Given the description of an element on the screen output the (x, y) to click on. 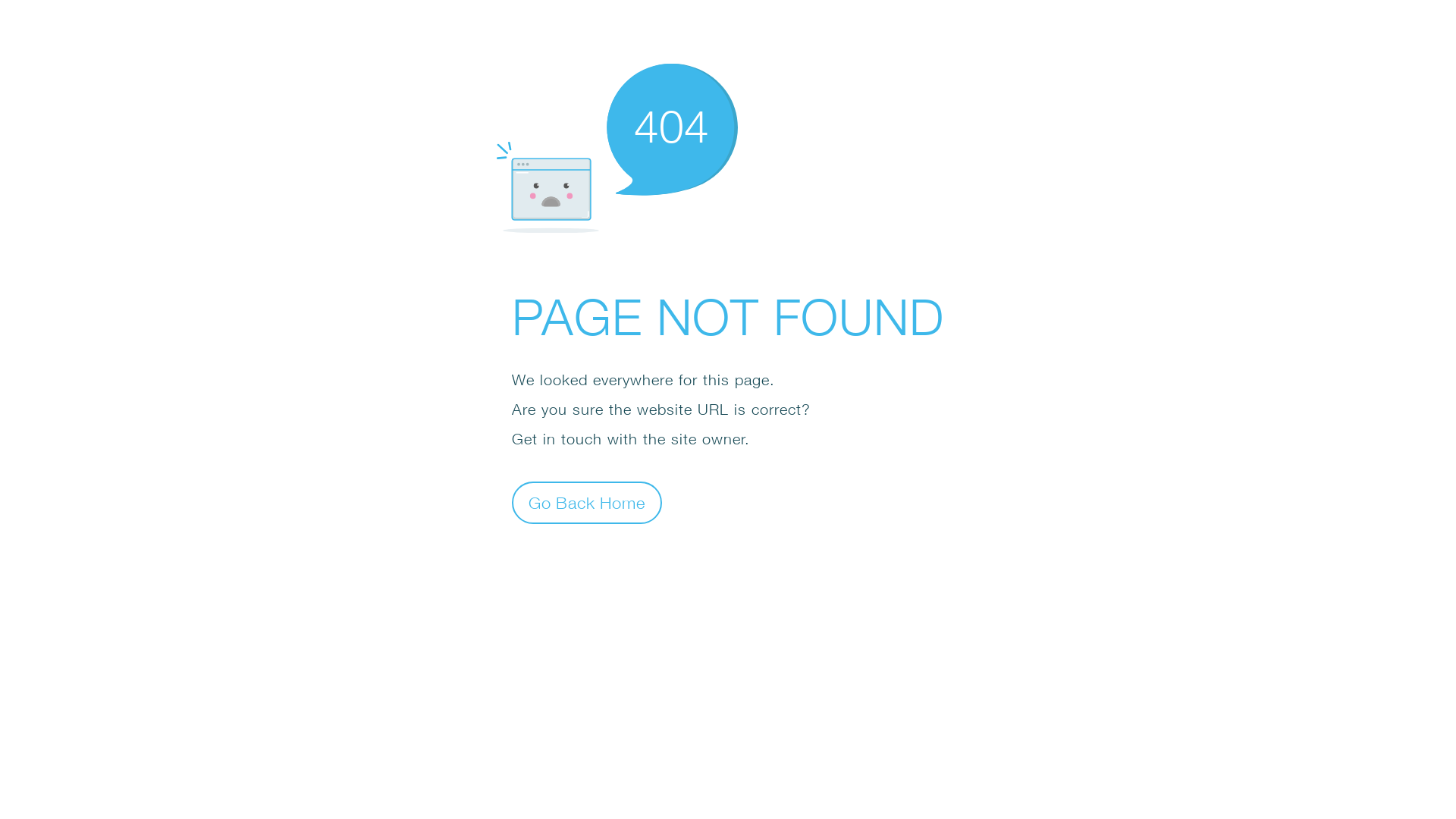
Go Back Home Element type: text (586, 502)
